Given the description of an element on the screen output the (x, y) to click on. 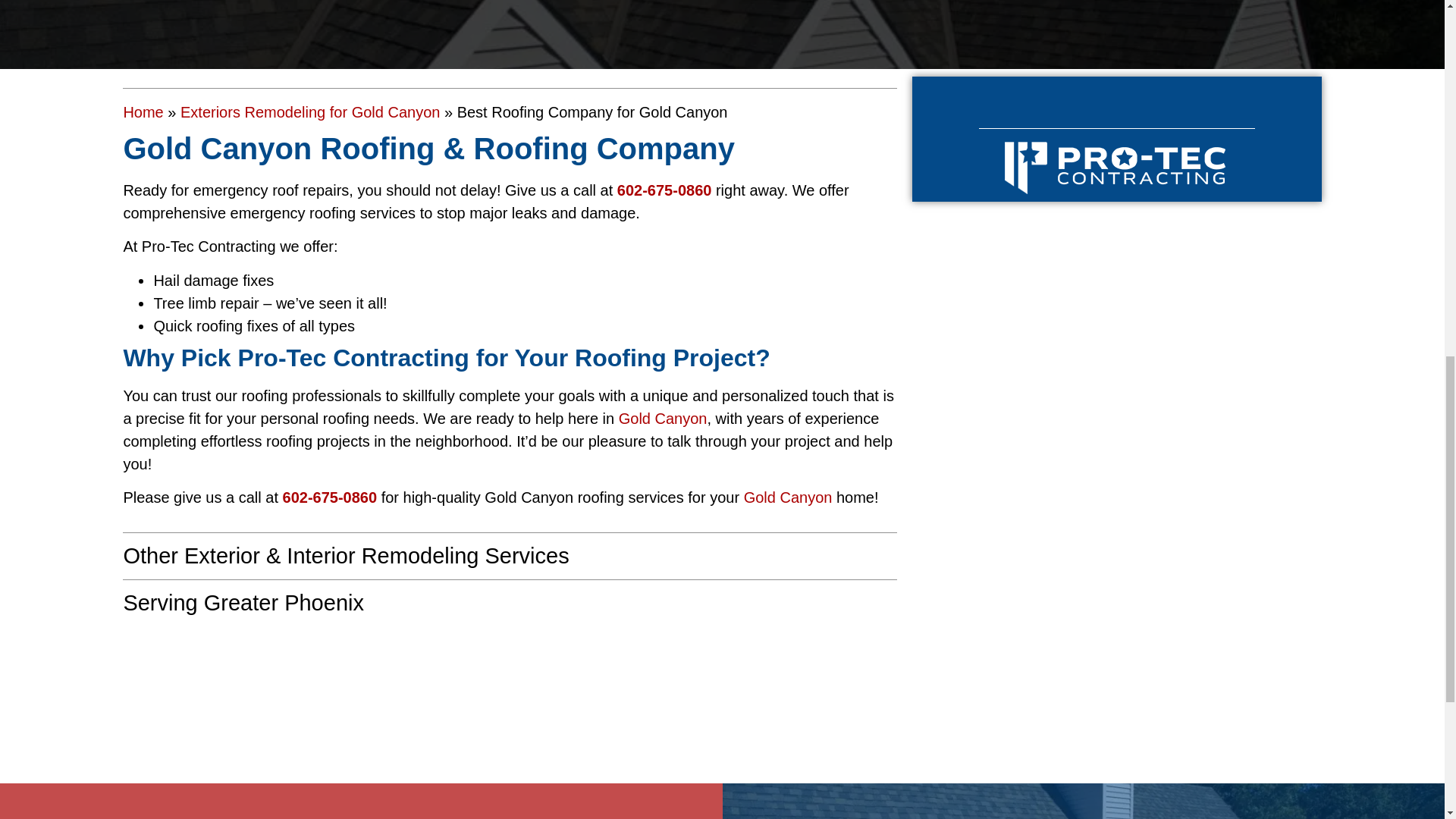
Gold Canyon (788, 497)
Exteriors Remodeling for Gold Canyon (309, 112)
gold canyon, az (509, 697)
Home (142, 112)
Gold Canyon (662, 418)
602-675-0860 (664, 190)
602-675-0860 (329, 497)
